Given the description of an element on the screen output the (x, y) to click on. 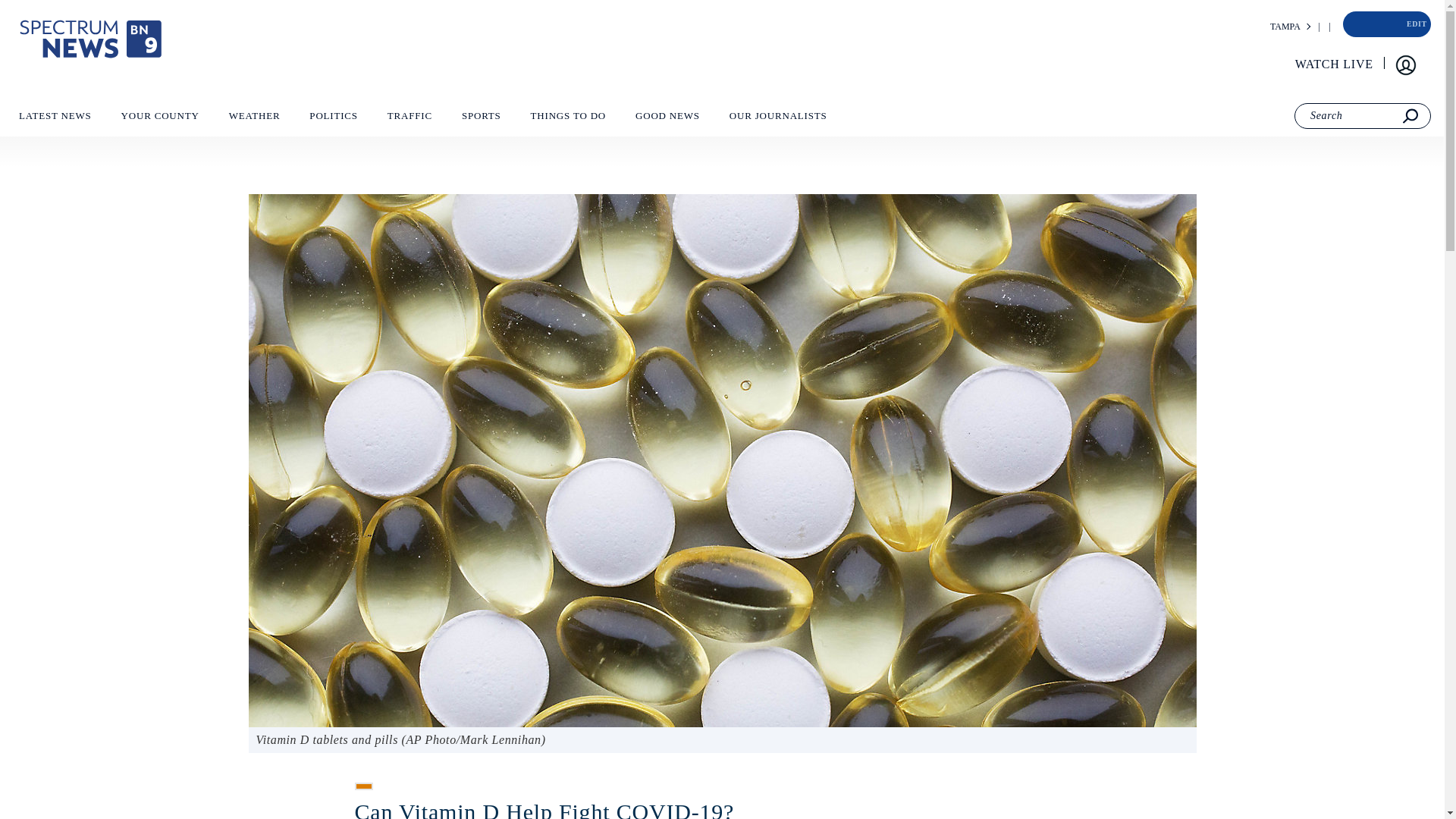
TAMPA (1284, 26)
WATCH LIVE (1334, 64)
LATEST NEWS (55, 119)
